Given the description of an element on the screen output the (x, y) to click on. 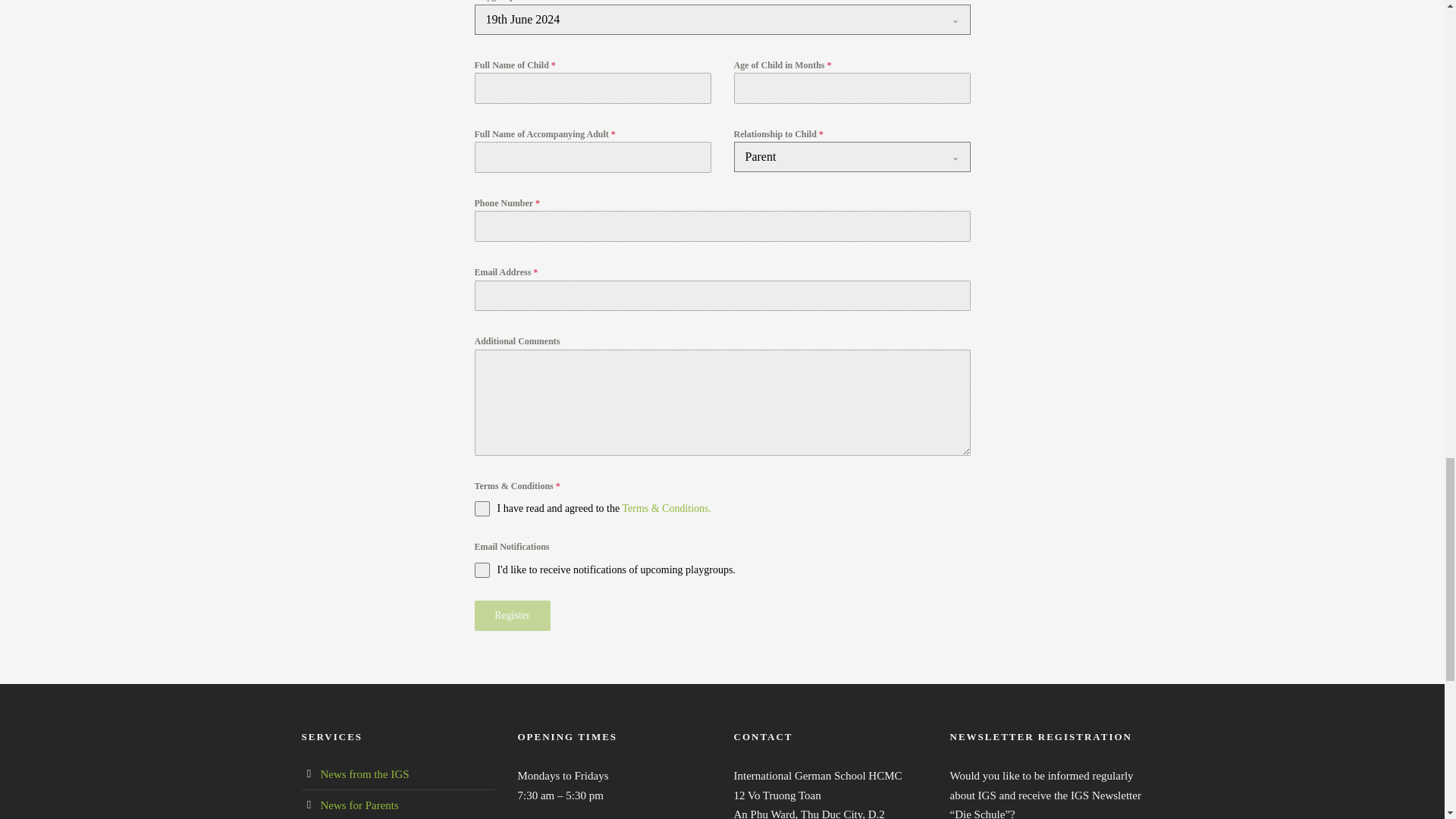
19th June 2024 (707, 19)
Parent (836, 156)
I'd like to receive notifications of upcoming playgroups. (722, 570)
